Given the description of an element on the screen output the (x, y) to click on. 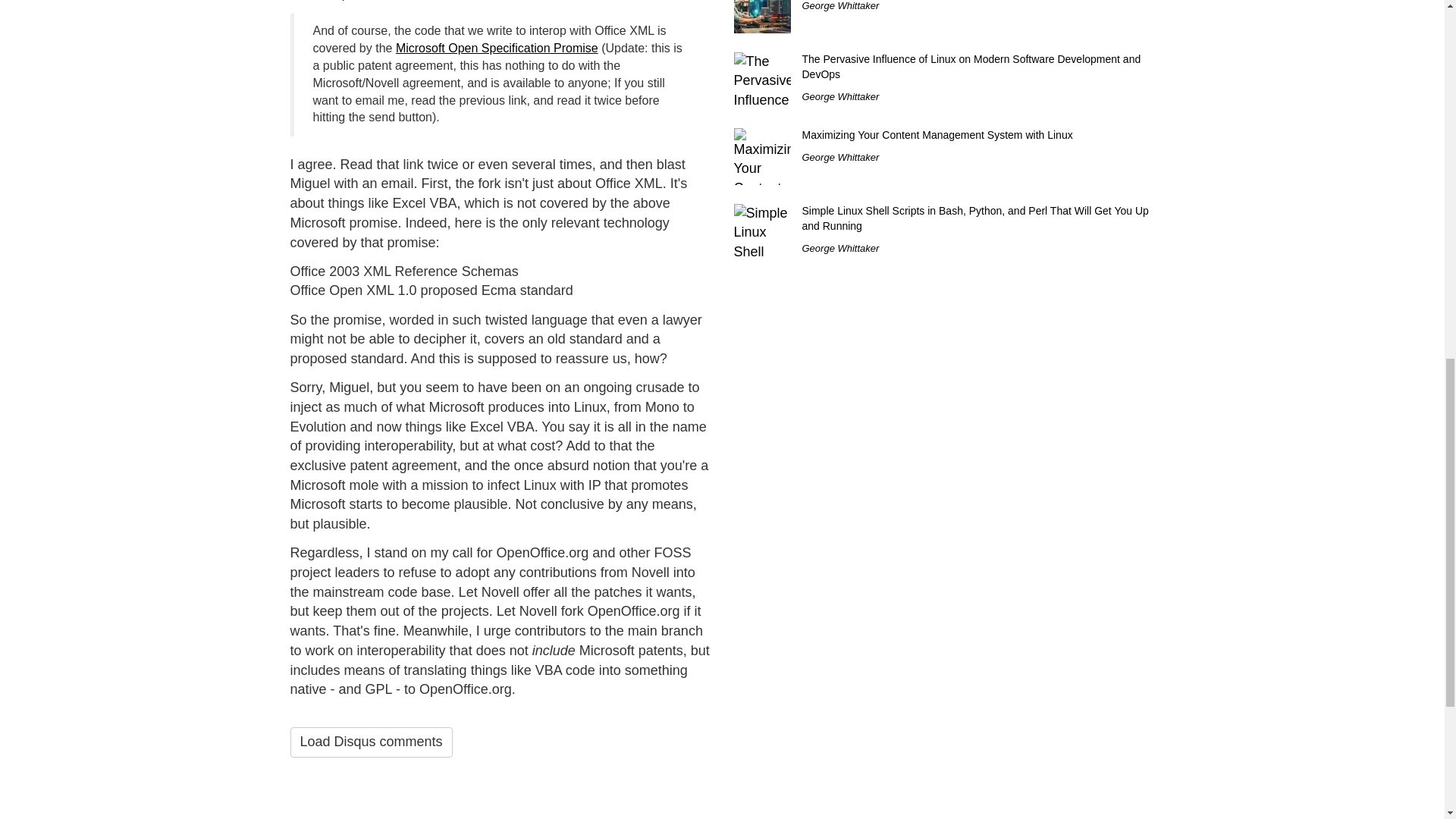
Load Disqus comments (370, 742)
George Whittaker (840, 96)
George Whittaker (840, 5)
Microsoft Open Specification Promise (497, 47)
